Given the description of an element on the screen output the (x, y) to click on. 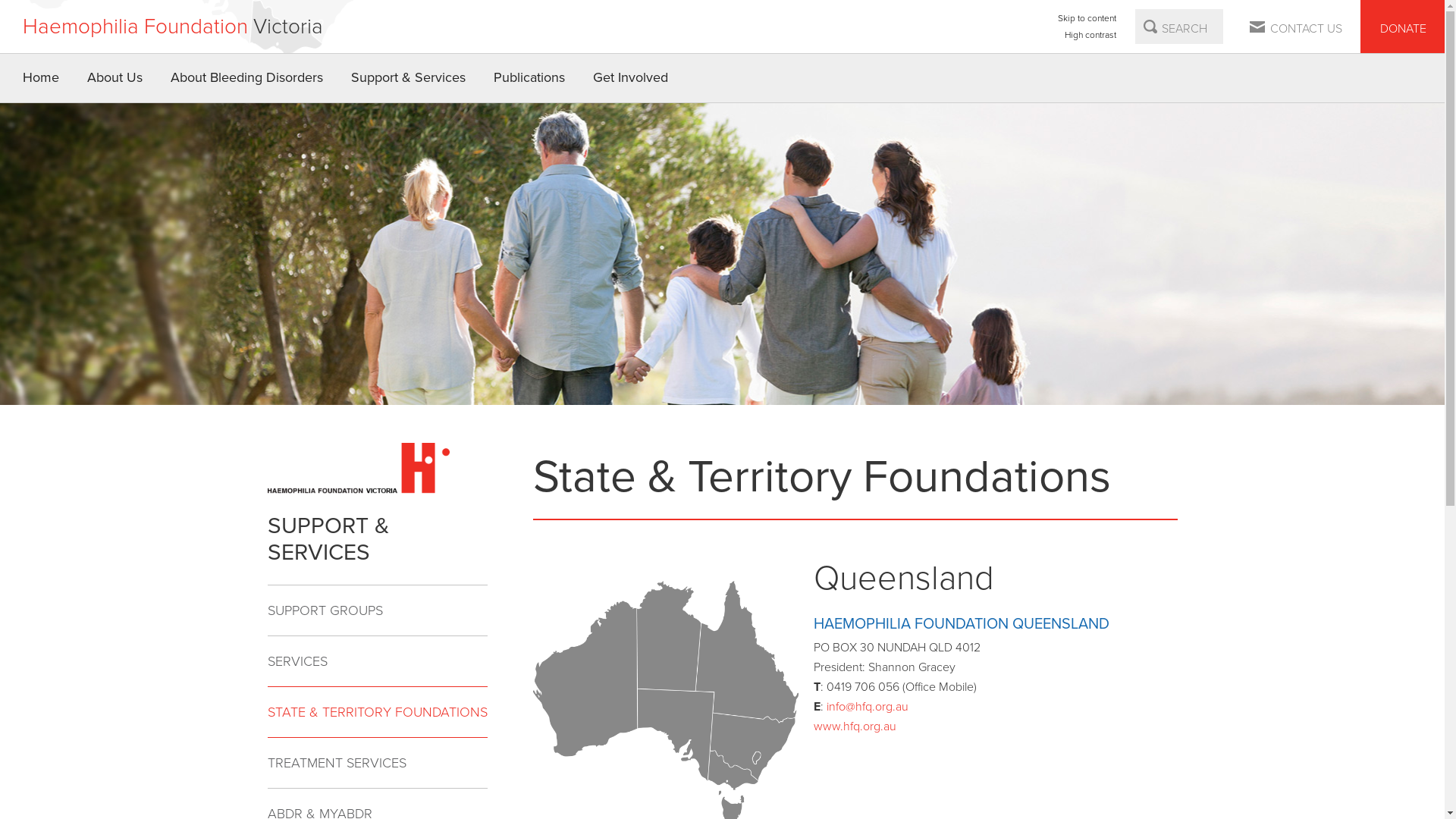
SERVICES Element type: text (376, 661)
TREATMENT SERVICES Element type: text (376, 762)
Skip to content Element type: text (1086, 17)
Publications Element type: text (529, 77)
Home Element type: text (41, 77)
DONATE Element type: text (1402, 26)
www.hfq.org.au Element type: text (853, 726)
About Bleeding Disorders Element type: text (246, 77)
Search Element type: text (1150, 26)
Victoria Element type: text (733, 769)
Australian Capital Territory Element type: text (755, 757)
info@hfq.org.au Element type: text (867, 706)
High contrast Element type: text (1086, 34)
About Us Element type: text (114, 77)
South Australia Element type: text (675, 734)
Northern Territory Element type: text (669, 635)
SUPPORT GROUPS Element type: text (376, 610)
New South Wales Element type: text (753, 745)
STATE & TERRITORY FOUNDATIONS Element type: text (376, 711)
Support & Services Element type: text (408, 77)
Queensland Element type: text (747, 650)
Get Involved Element type: text (630, 77)
CONTACT US Element type: text (1296, 26)
Western Australia Element type: text (584, 678)
